Given the description of an element on the screen output the (x, y) to click on. 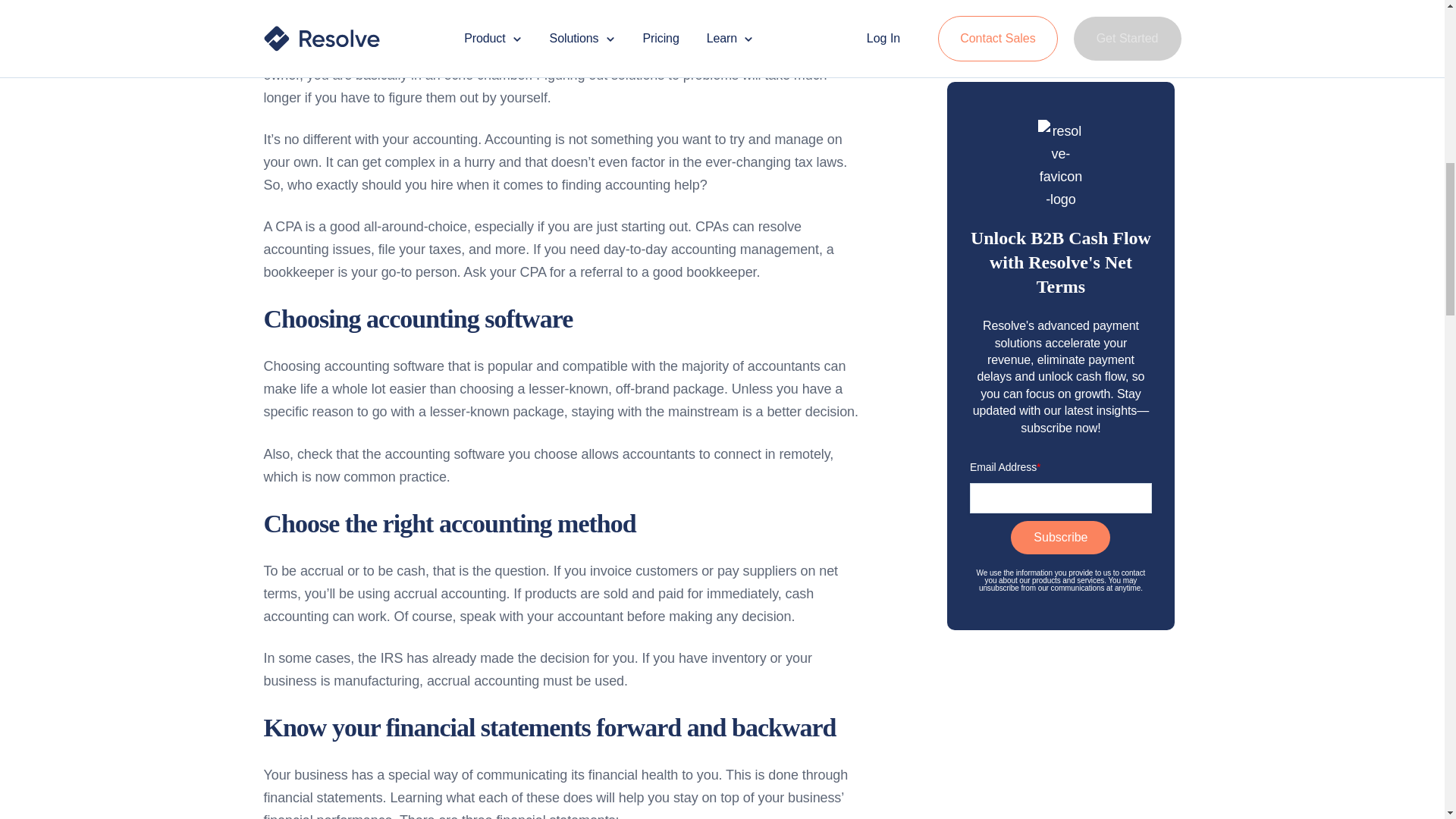
Subscribe (1059, 133)
